Given the description of an element on the screen output the (x, y) to click on. 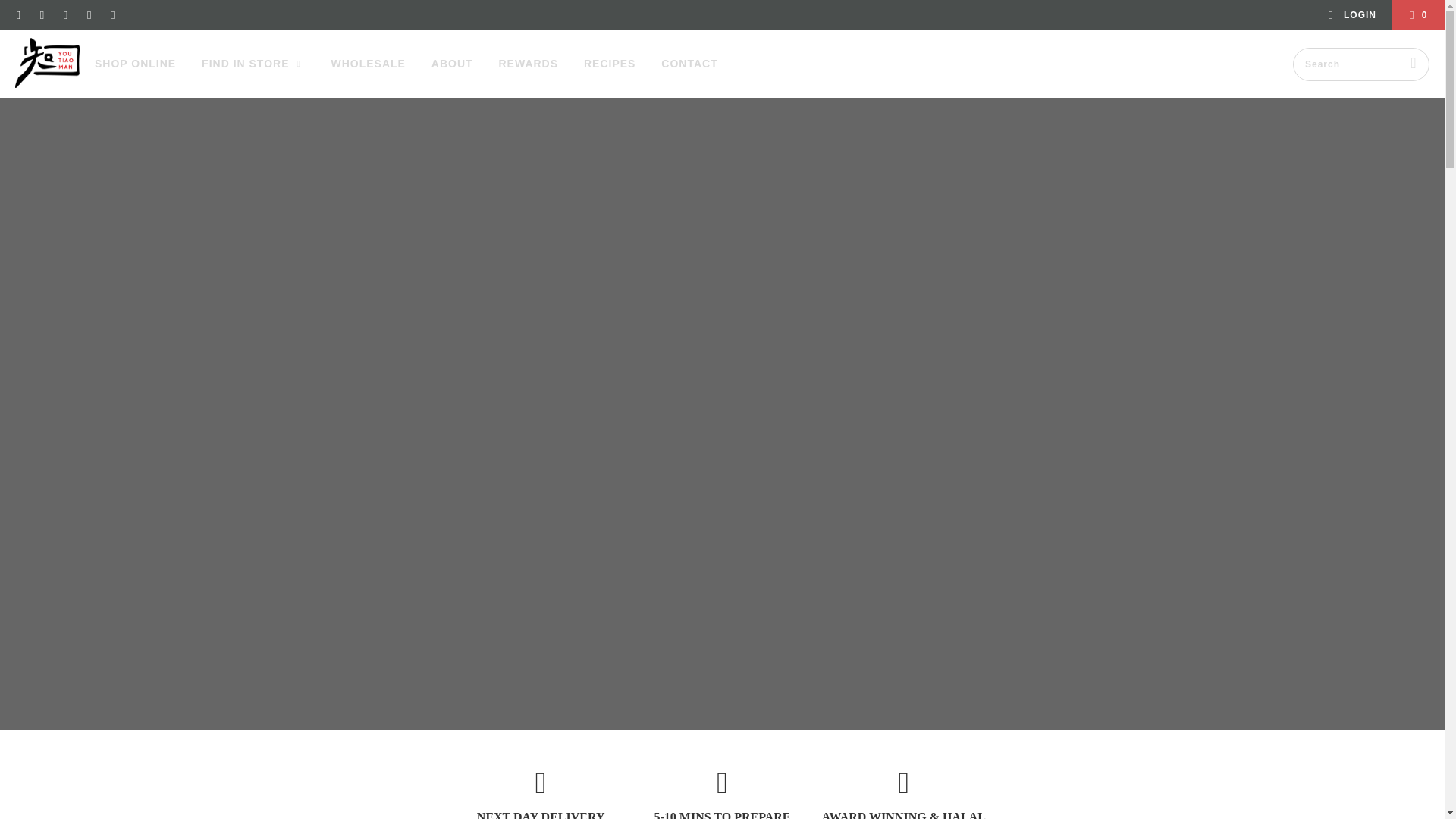
SHOP ONLINE (135, 63)
You Tiao Man Pte Ltd (47, 63)
ABOUT (451, 63)
WHOLESALE (367, 63)
You Tiao Man Pte Ltd on Instagram (41, 14)
REWARDS (529, 63)
RECIPES (608, 63)
LOGIN (1351, 15)
Email You Tiao Man Pte Ltd (112, 14)
You Tiao Man Pte Ltd on YouTube (64, 14)
CONTACT (689, 63)
You Tiao Man Pte Ltd on Facebook (17, 14)
You Tiao Man Pte Ltd on LinkedIn (87, 14)
FIND IN STORE (253, 63)
My Account  (1351, 15)
